Given the description of an element on the screen output the (x, y) to click on. 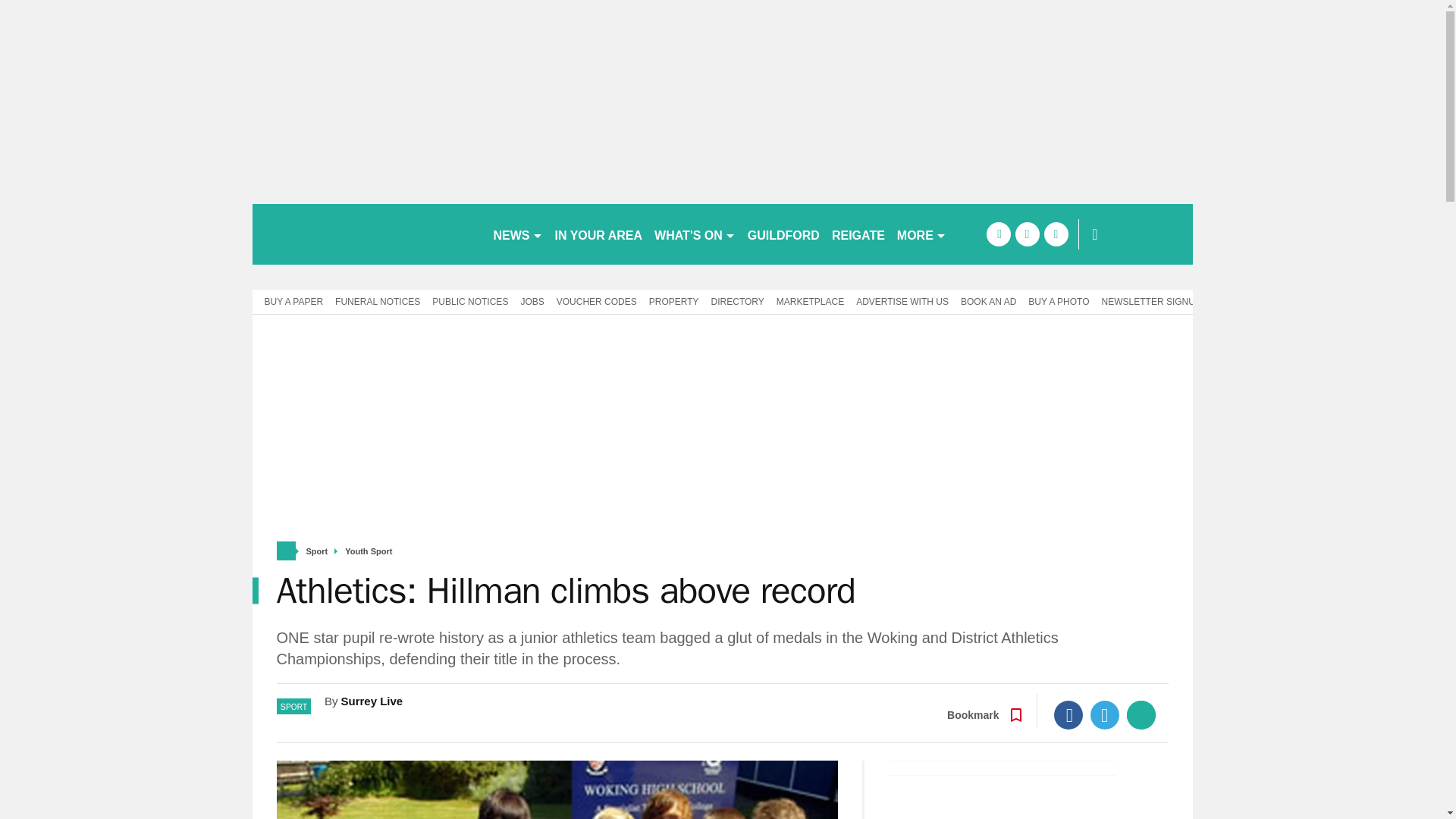
twitter (1026, 233)
JOBS (531, 300)
REIGATE (858, 233)
IN YOUR AREA (598, 233)
PUBLIC NOTICES (469, 300)
Facebook (1068, 715)
WHAT'S ON (694, 233)
instagram (1055, 233)
VOUCHER CODES (596, 300)
GUILDFORD (783, 233)
Twitter (1104, 715)
FUNERAL NOTICES (377, 300)
facebook (997, 233)
getsurrey (365, 233)
MORE (921, 233)
